Given the description of an element on the screen output the (x, y) to click on. 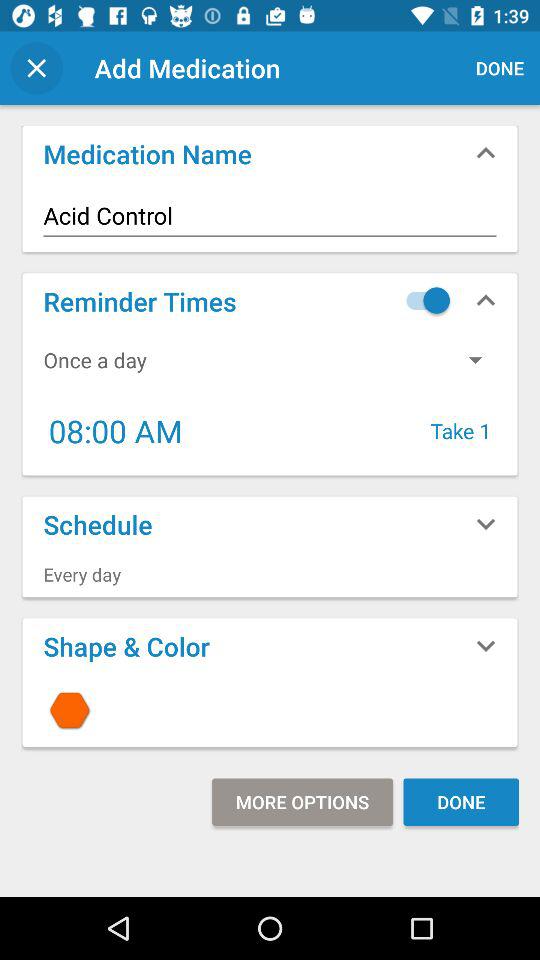
launch the icon next to the reminder times icon (423, 300)
